Given the description of an element on the screen output the (x, y) to click on. 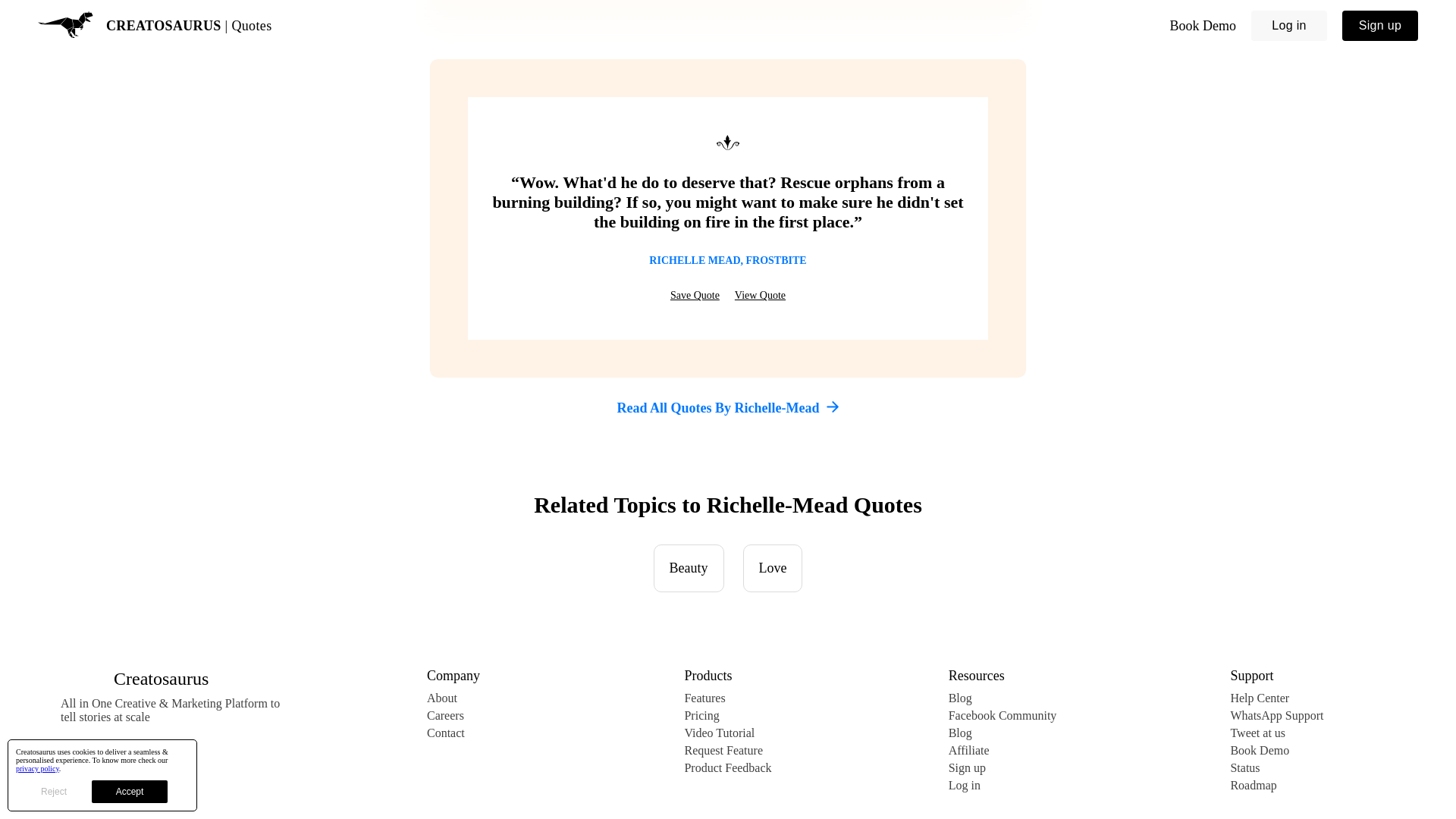
RICHELLE MEAD, FROSTBITE (727, 260)
About (453, 698)
Read All Quotes By Richelle-Mead (728, 408)
Careers (453, 715)
Contact (453, 733)
Beauty (688, 568)
View Quote (760, 295)
Features (727, 698)
Love (772, 568)
